Given the description of an element on the screen output the (x, y) to click on. 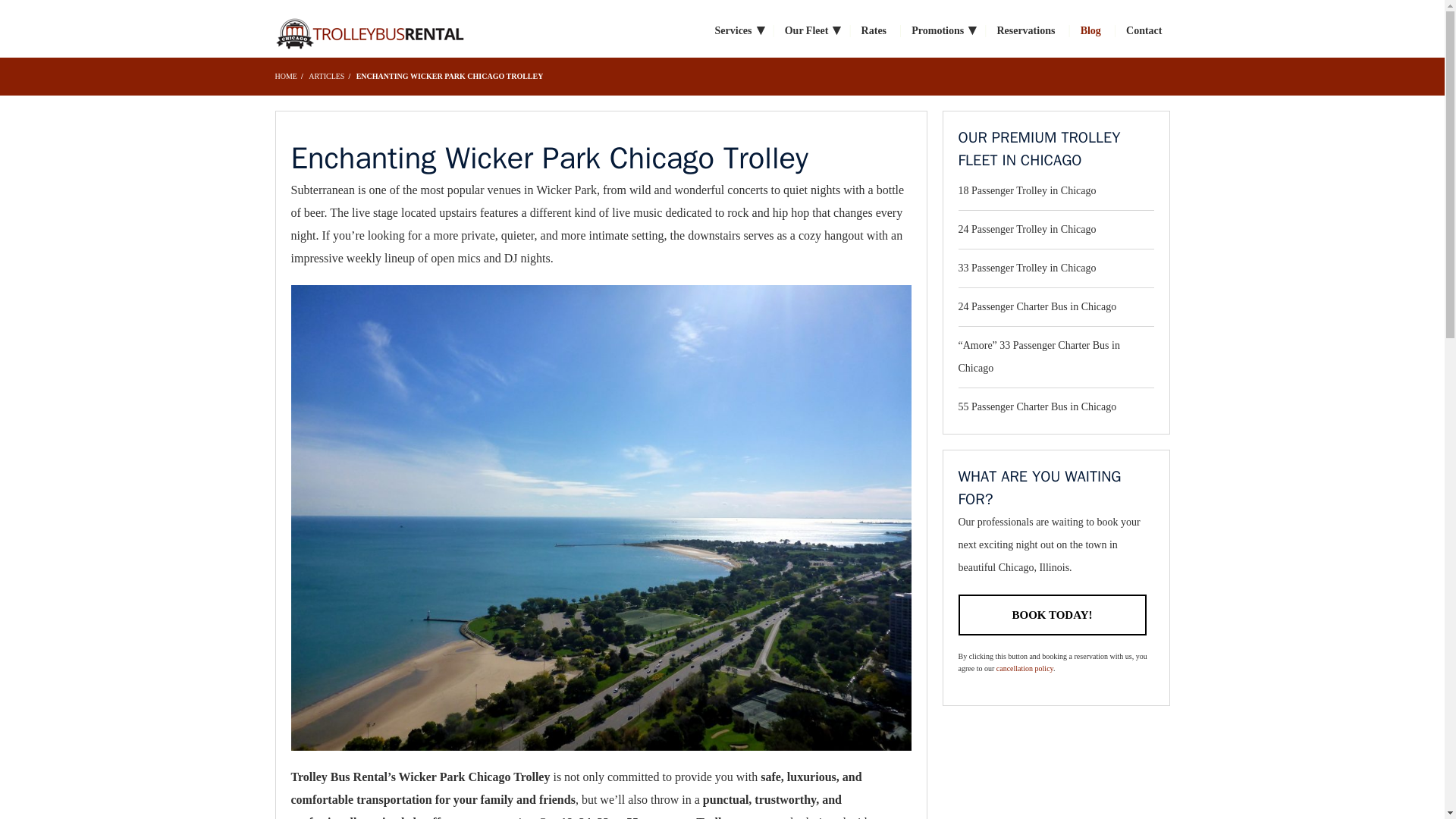
Promotions (941, 29)
Rates (873, 30)
Our Fleet (809, 29)
Services (737, 29)
Trolley Rates Chicago (369, 31)
